Given the description of an element on the screen output the (x, y) to click on. 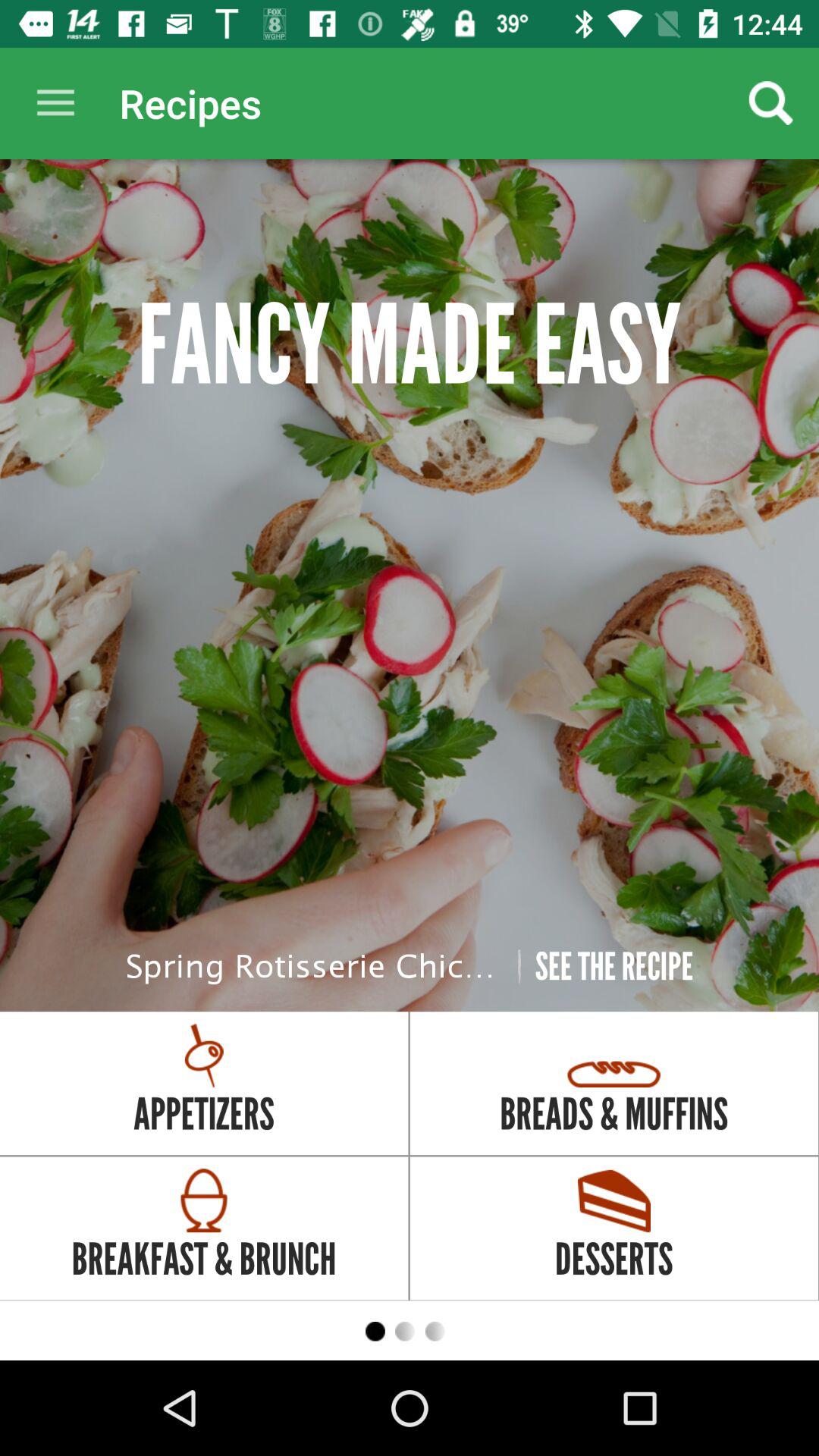
choose the icon above the fancy made easy item (55, 103)
